Given the description of an element on the screen output the (x, y) to click on. 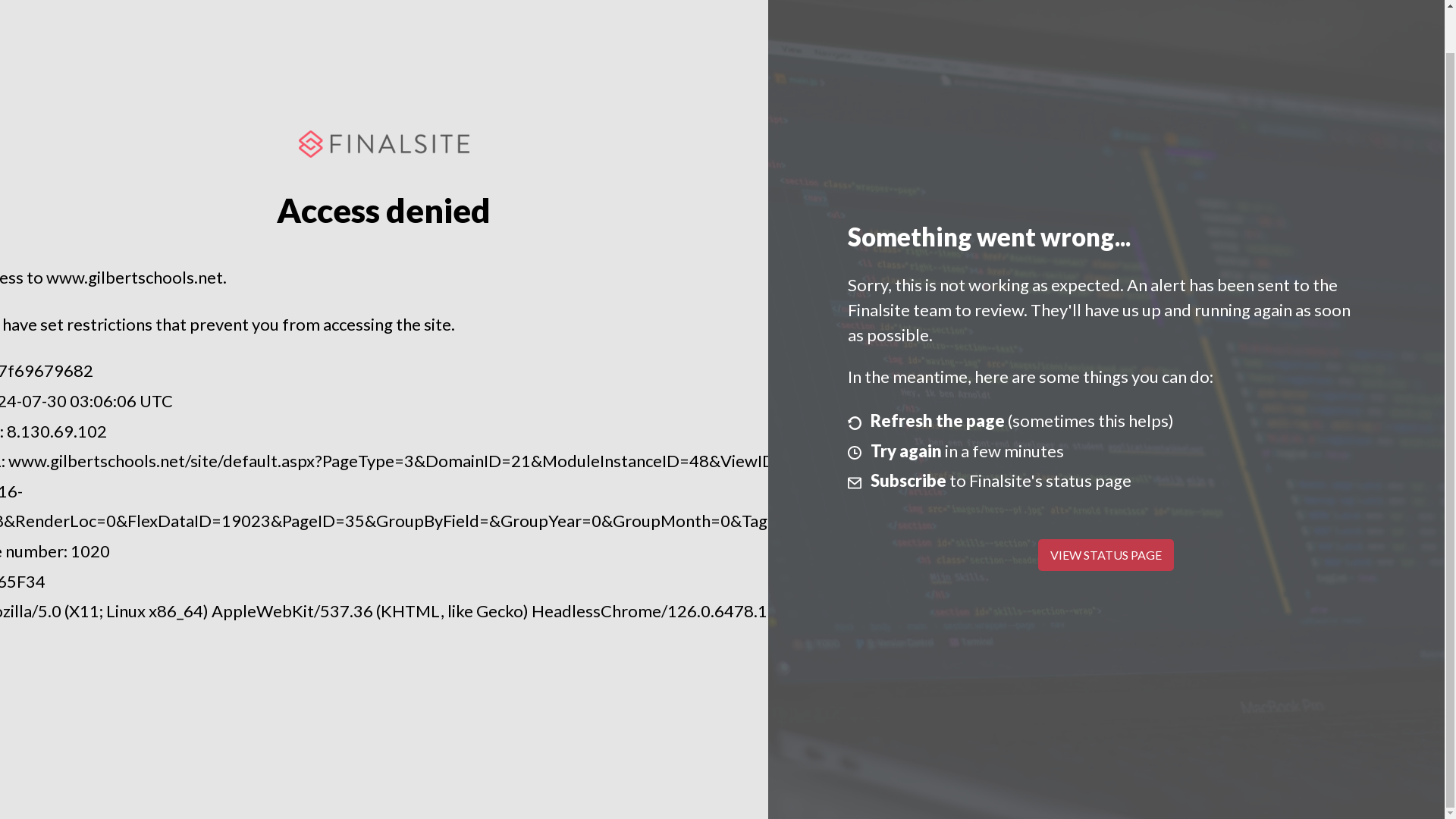
VIEW STATUS PAGE (1105, 554)
